Given the description of an element on the screen output the (x, y) to click on. 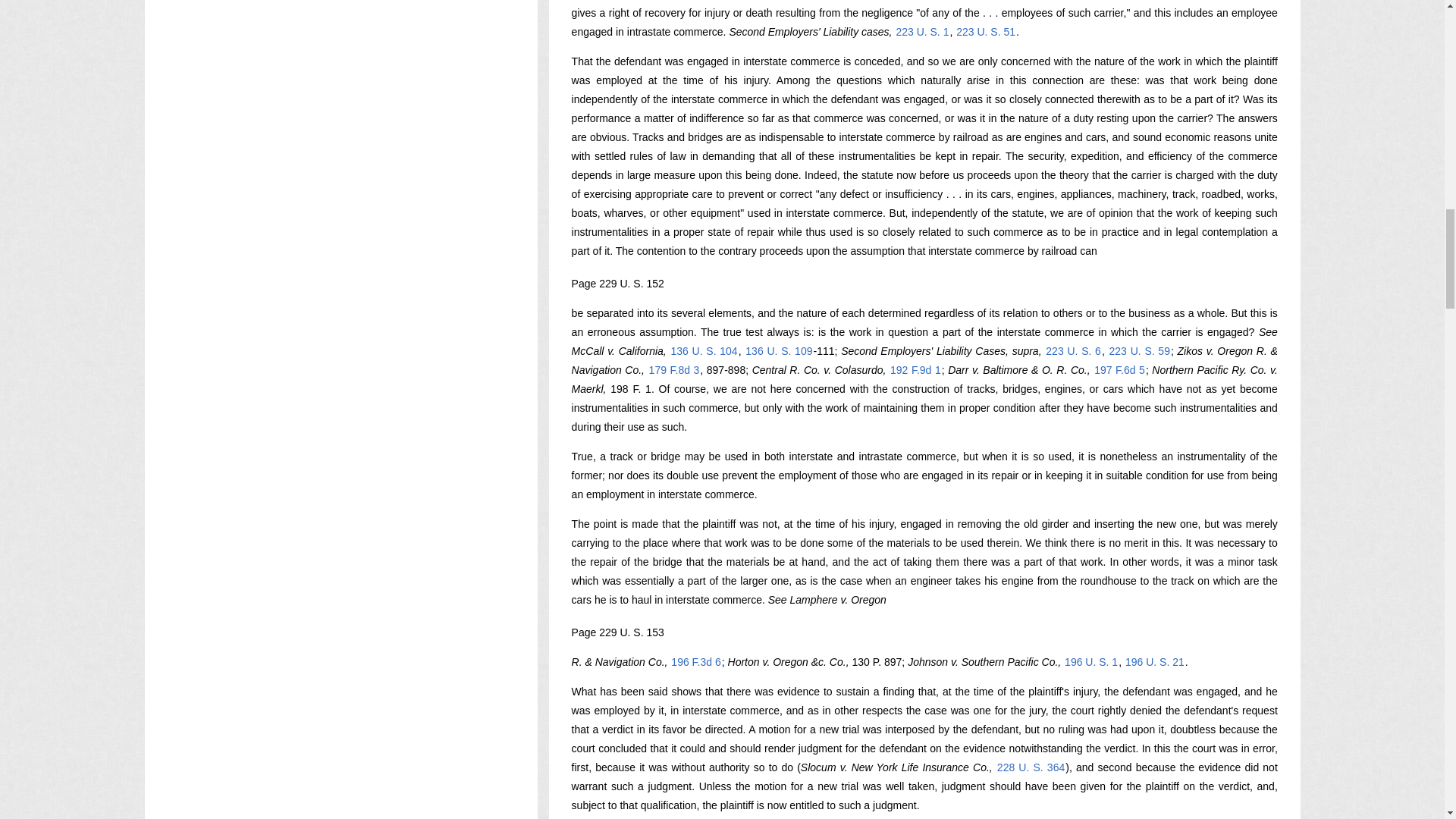
228 U. S. 364 (1030, 767)
197 F.6d 5 (1119, 369)
196 U. S. 1 (1091, 662)
192 F.9d 1 (915, 369)
179 F.8d 3 (673, 369)
196 F.3d 6 (694, 662)
Page 229 U. S. 153 (617, 632)
223 U. S. 1 (922, 31)
136 U. S. 104 (703, 350)
136 U. S. 109 (778, 350)
